Given the description of an element on the screen output the (x, y) to click on. 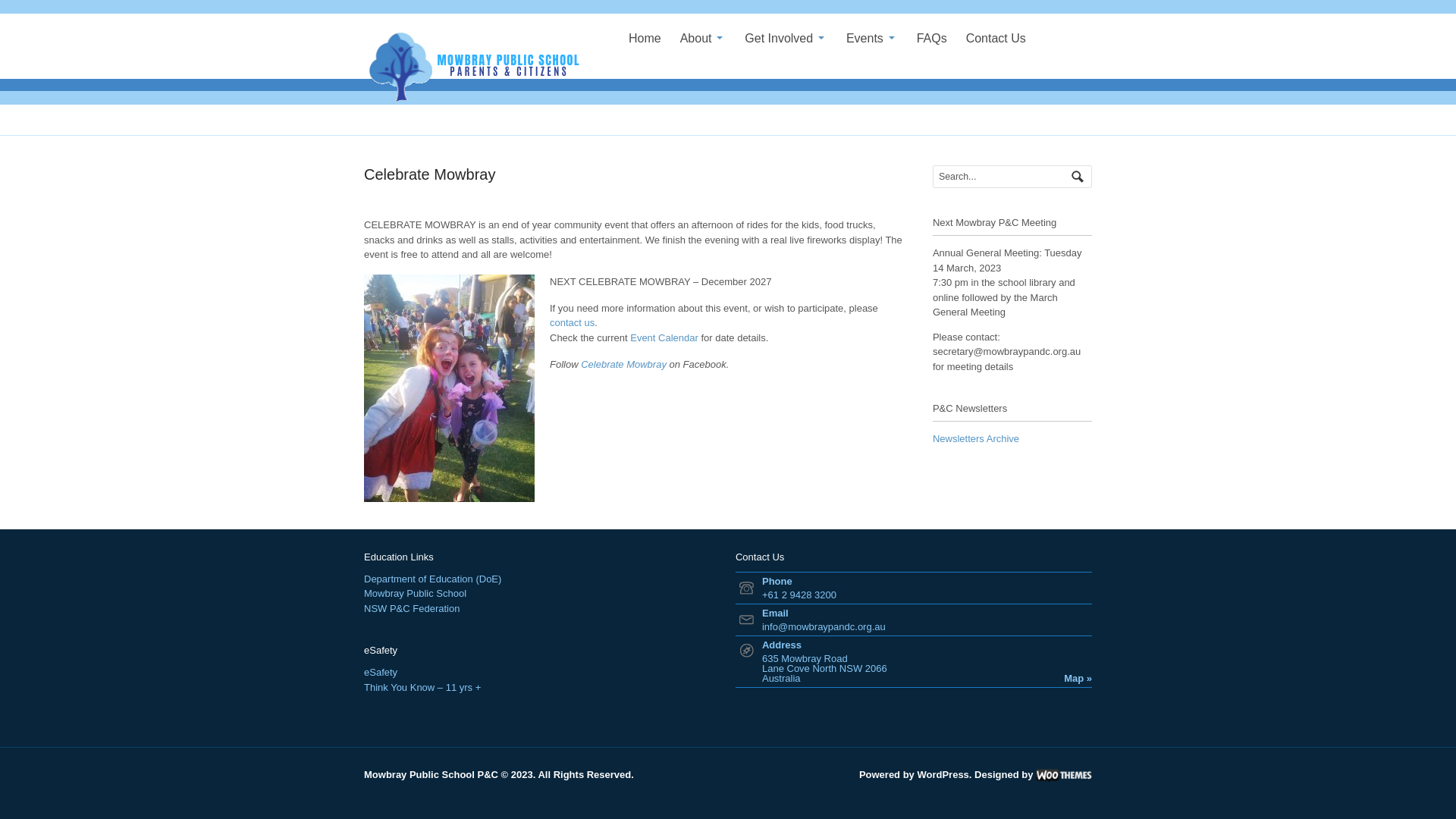
FAQs Element type: text (931, 38)
Get Involved Element type: text (785, 38)
WordPress Element type: text (942, 774)
Mowbray Public School Parents and Citizens Association Element type: hover (477, 67)
Mowbray Public School Element type: text (415, 593)
Contact Us Element type: text (995, 38)
Newsletters Archive Element type: text (975, 438)
Department of Education (DoE) Element type: text (432, 578)
NSW P&C Federation Element type: text (411, 608)
info@mowbraypandc.org.au Element type: text (823, 626)
contact us Element type: text (571, 322)
Home Element type: text (644, 38)
Celebrate Mowbray Element type: text (623, 364)
Events Element type: text (871, 38)
About Element type: text (703, 38)
Event Calendar Element type: text (664, 337)
eSafety Element type: text (380, 671)
